Given the description of an element on the screen output the (x, y) to click on. 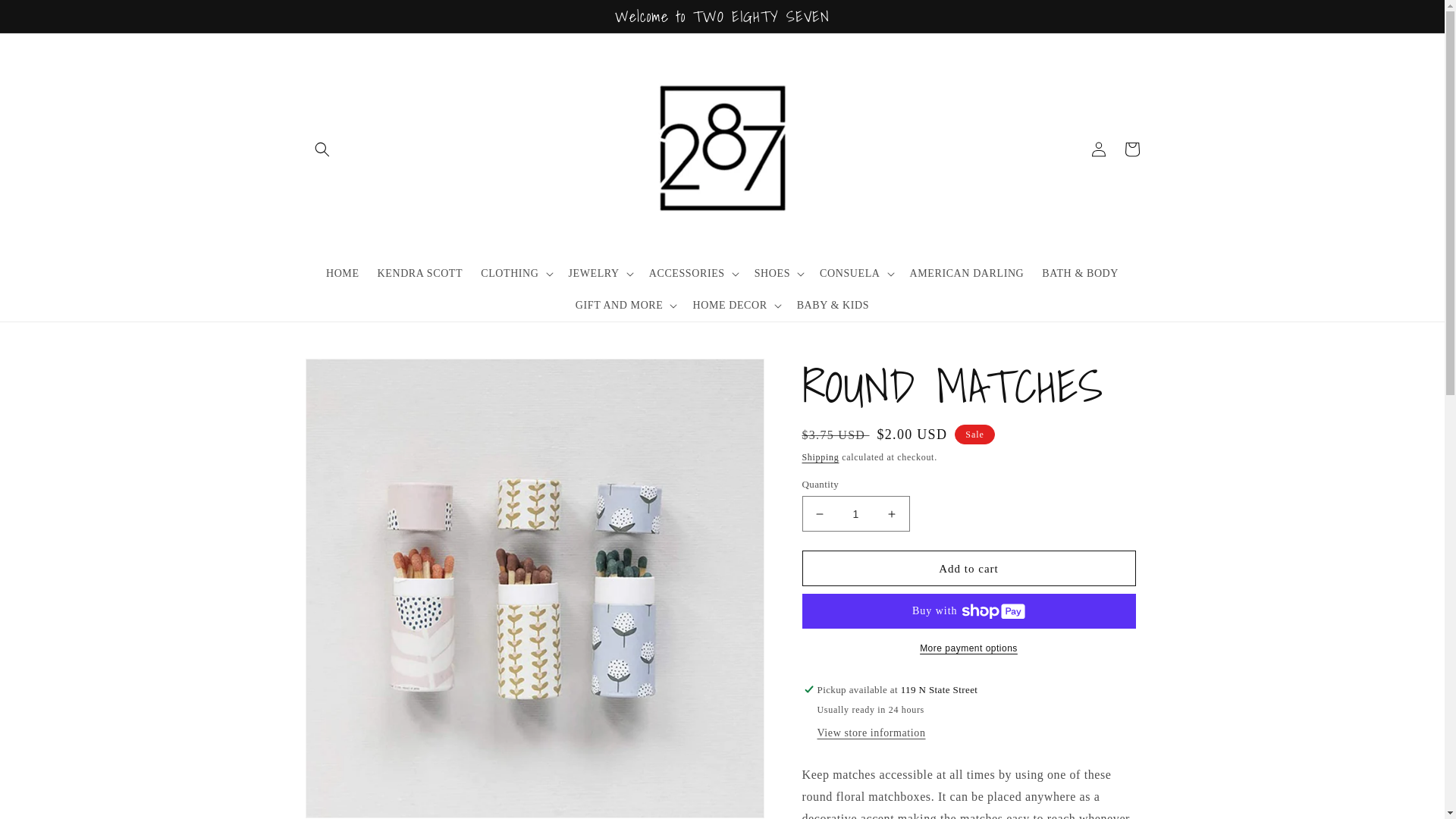
BATH & BODY Element type: text (1079, 273)
HOME Element type: text (342, 273)
Shipping Element type: text (820, 456)
Skip to product information Element type: text (350, 375)
More payment options Element type: text (968, 647)
AMERICAN DARLING Element type: text (966, 273)
BABY & KIDS Element type: text (832, 305)
Add to cart Element type: text (968, 568)
Decrease quantity for ROUND MATCHES Element type: text (819, 513)
Increase quantity for ROUND MATCHES Element type: text (892, 513)
Cart Element type: text (1131, 149)
View store information Element type: text (871, 733)
KENDRA SCOTT Element type: text (420, 273)
Log in Element type: text (1097, 149)
